Given the description of an element on the screen output the (x, y) to click on. 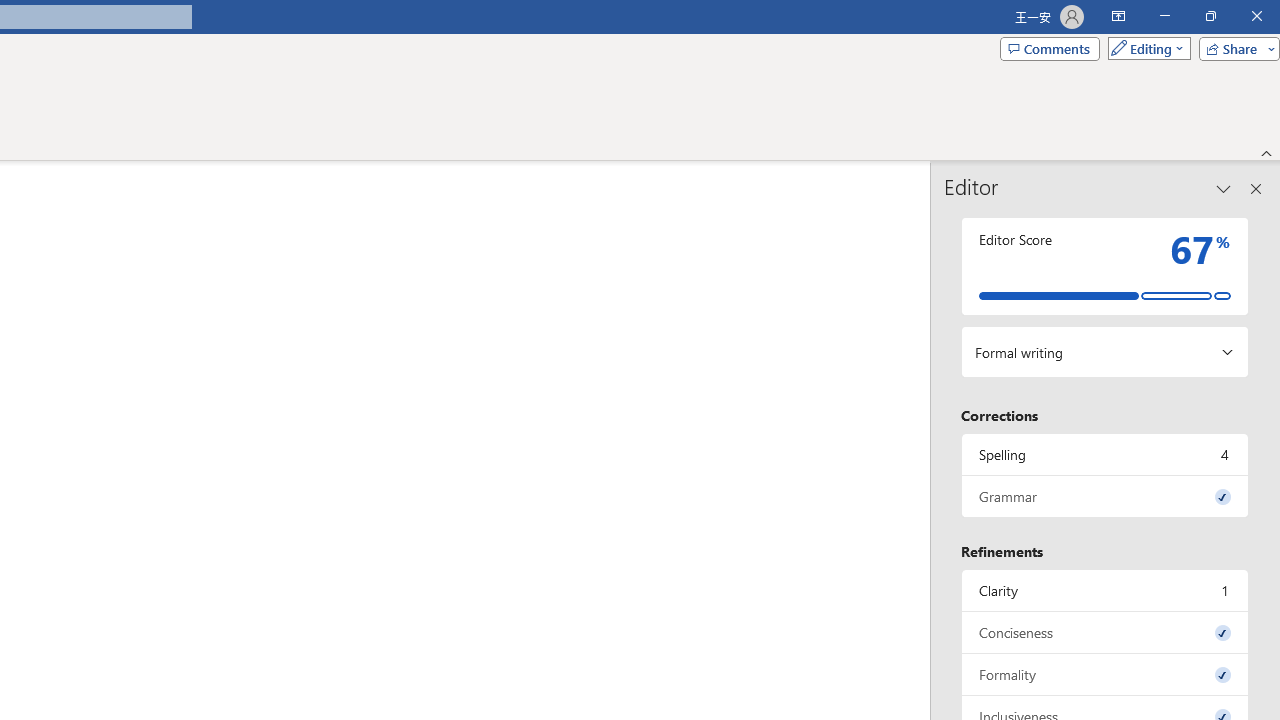
Editor Score 67% (1105, 266)
Clarity, 1 issue. Press space or enter to review items. (1105, 590)
Spelling, 4 issues. Press space or enter to review items. (1105, 454)
Editing (1144, 47)
Conciseness, 0 issues. Press space or enter to review items. (1105, 632)
